Given the description of an element on the screen output the (x, y) to click on. 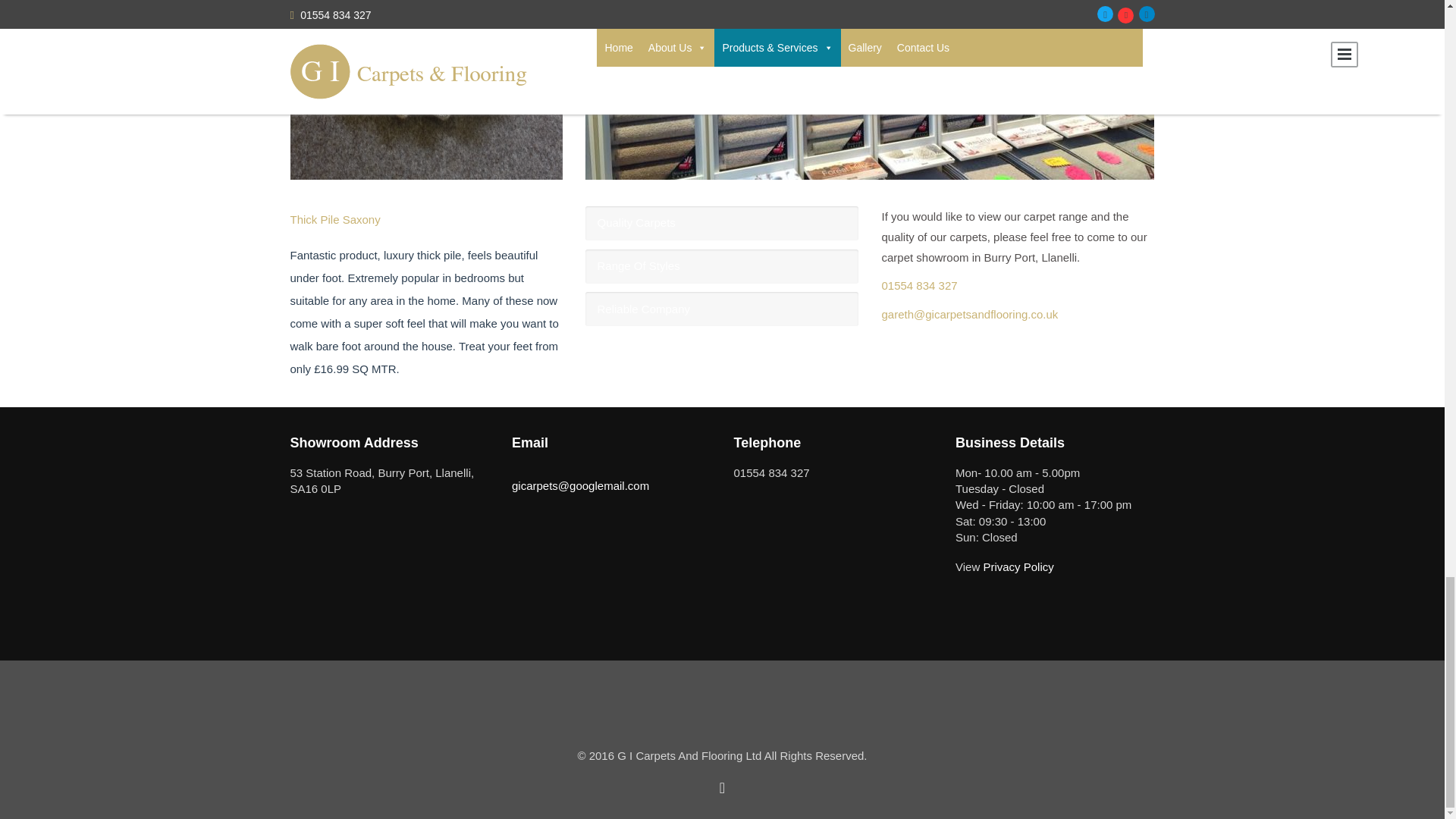
Privacy Policy (1016, 566)
llanelli carpets (869, 89)
